Given the description of an element on the screen output the (x, y) to click on. 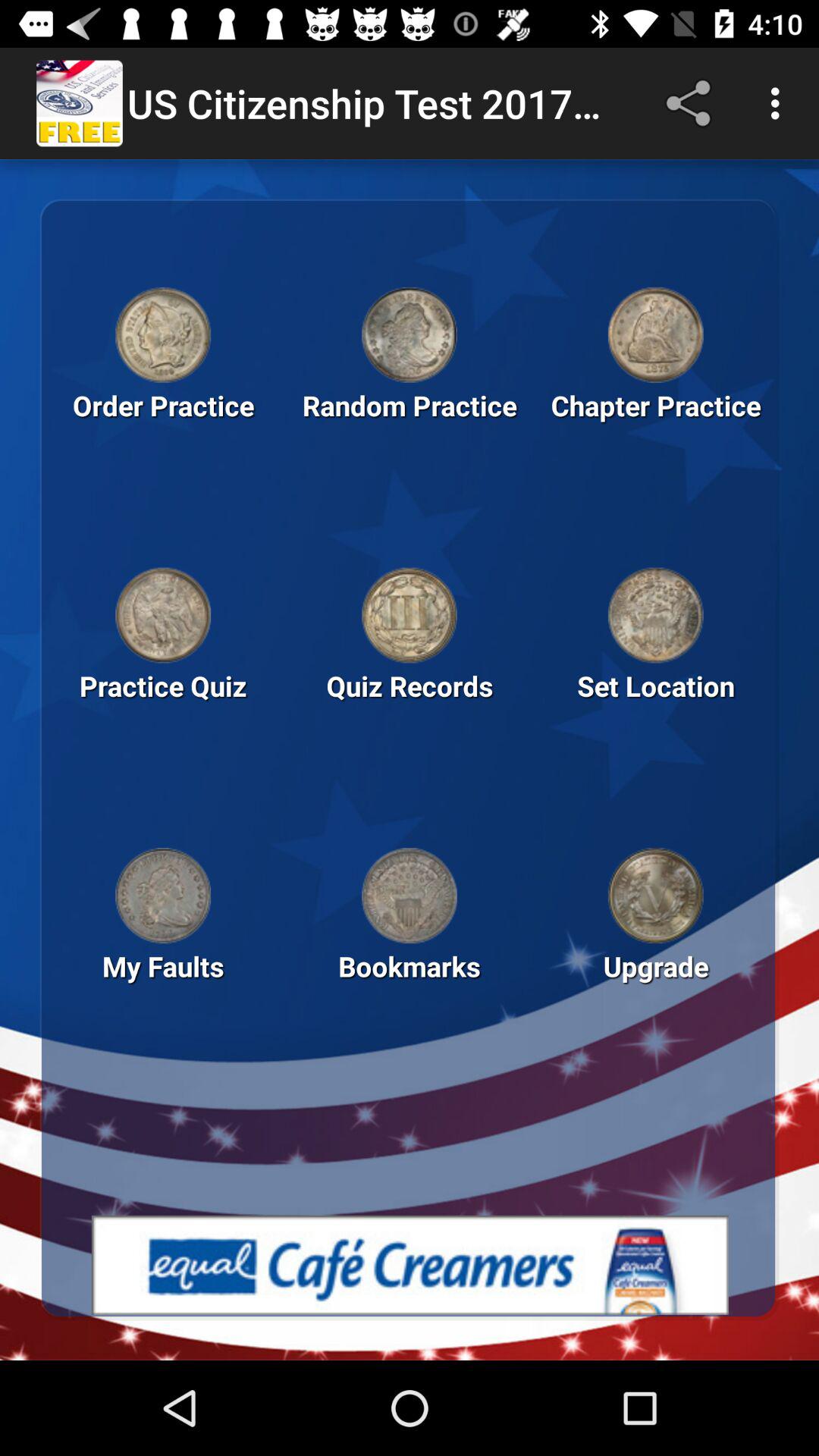
access quiz records (409, 615)
